Given the description of an element on the screen output the (x, y) to click on. 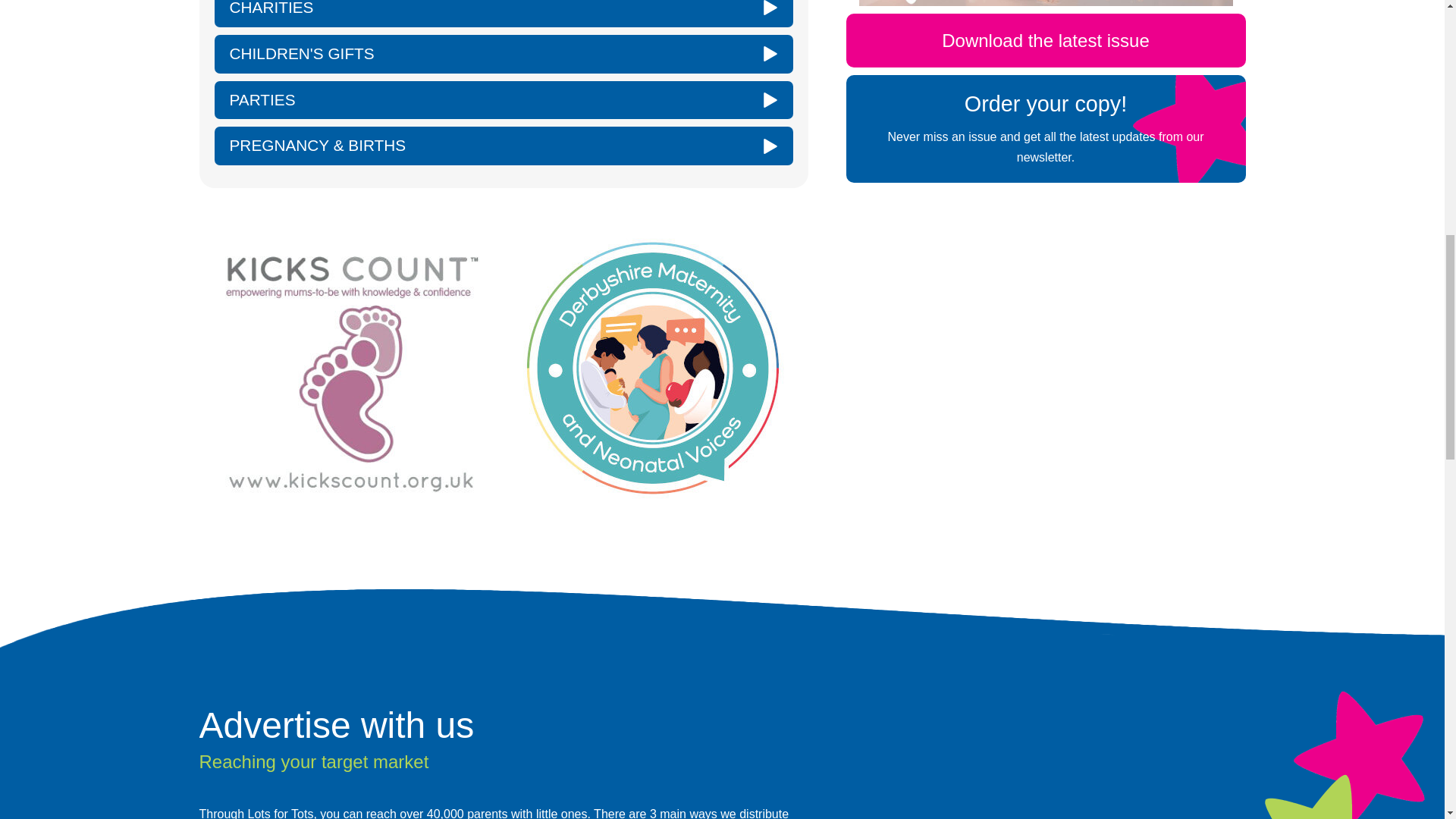
CHILDREN'S GIFTS (503, 54)
Derbyshire Maternity Voices (652, 368)
PARTIES (503, 100)
Download the latest issue (1045, 40)
CHARITIES (503, 13)
Kicks Count (348, 368)
